Given the description of an element on the screen output the (x, y) to click on. 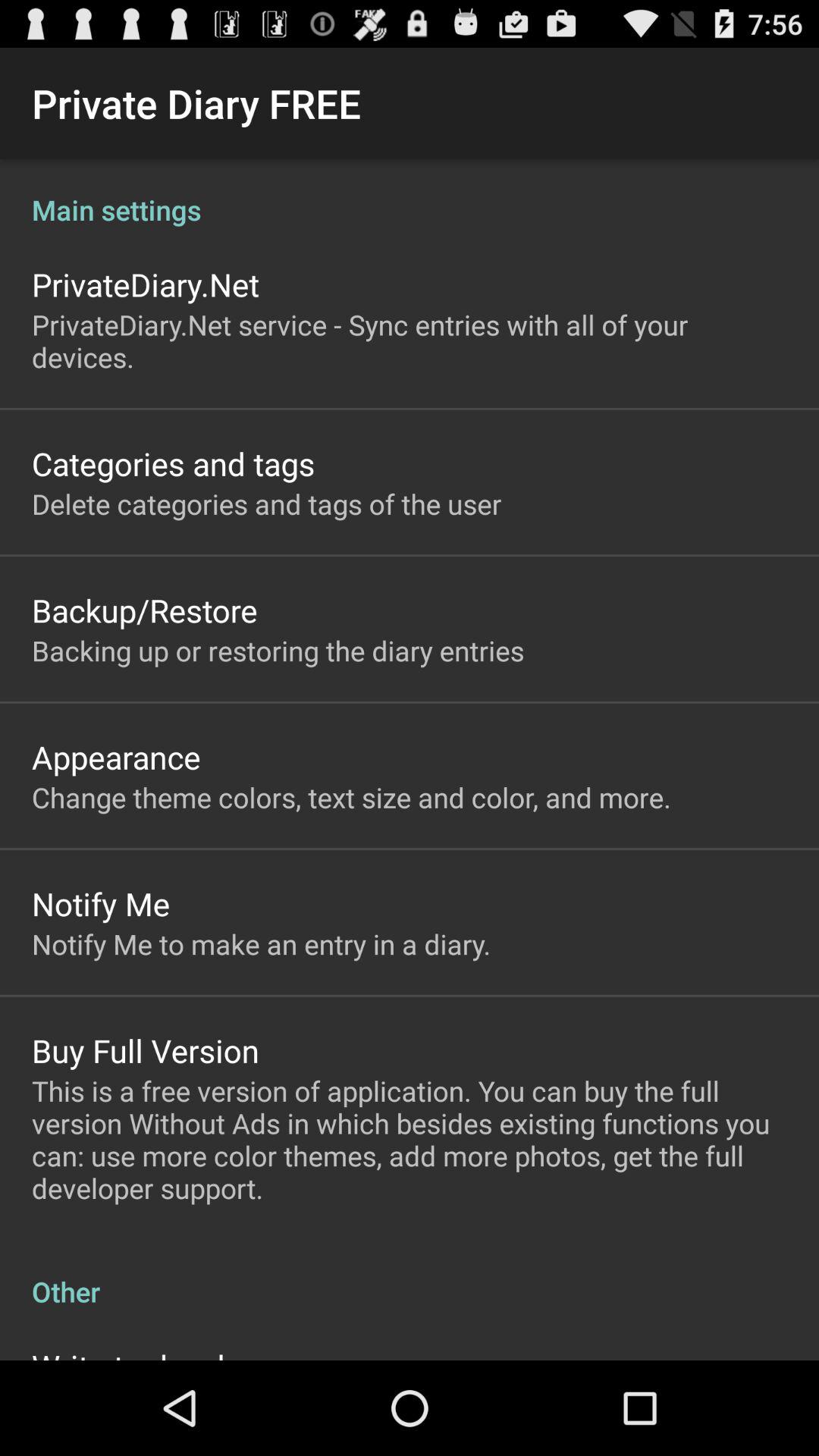
open item below the private diary free (409, 193)
